Given the description of an element on the screen output the (x, y) to click on. 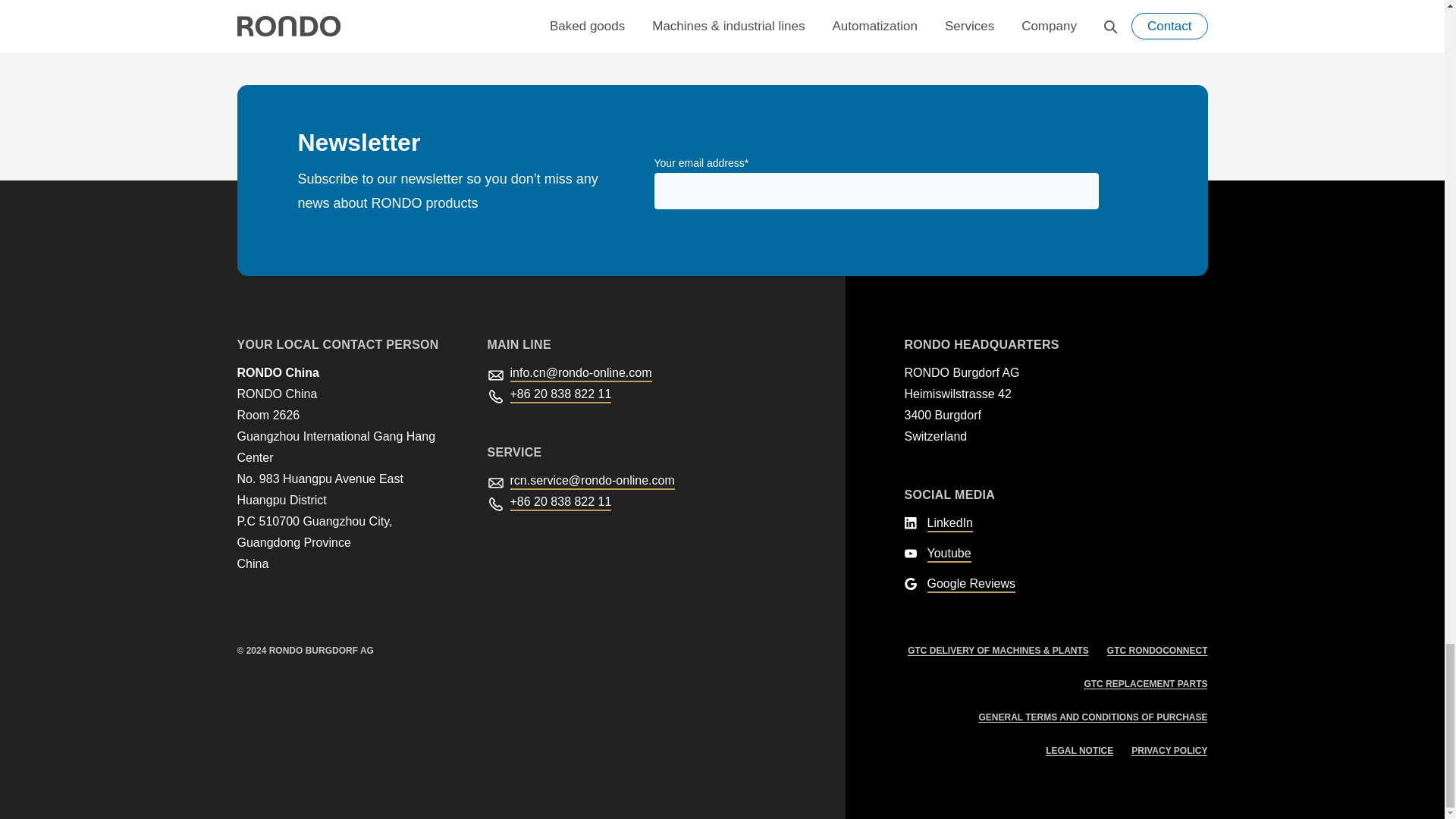
GTC RONDOconnect (1157, 650)
Legal notice (1079, 750)
General Terms and Conditions of Purchase (1092, 716)
GTC replacement kits (1145, 683)
Privacy policy (1169, 750)
